Given the description of an element on the screen output the (x, y) to click on. 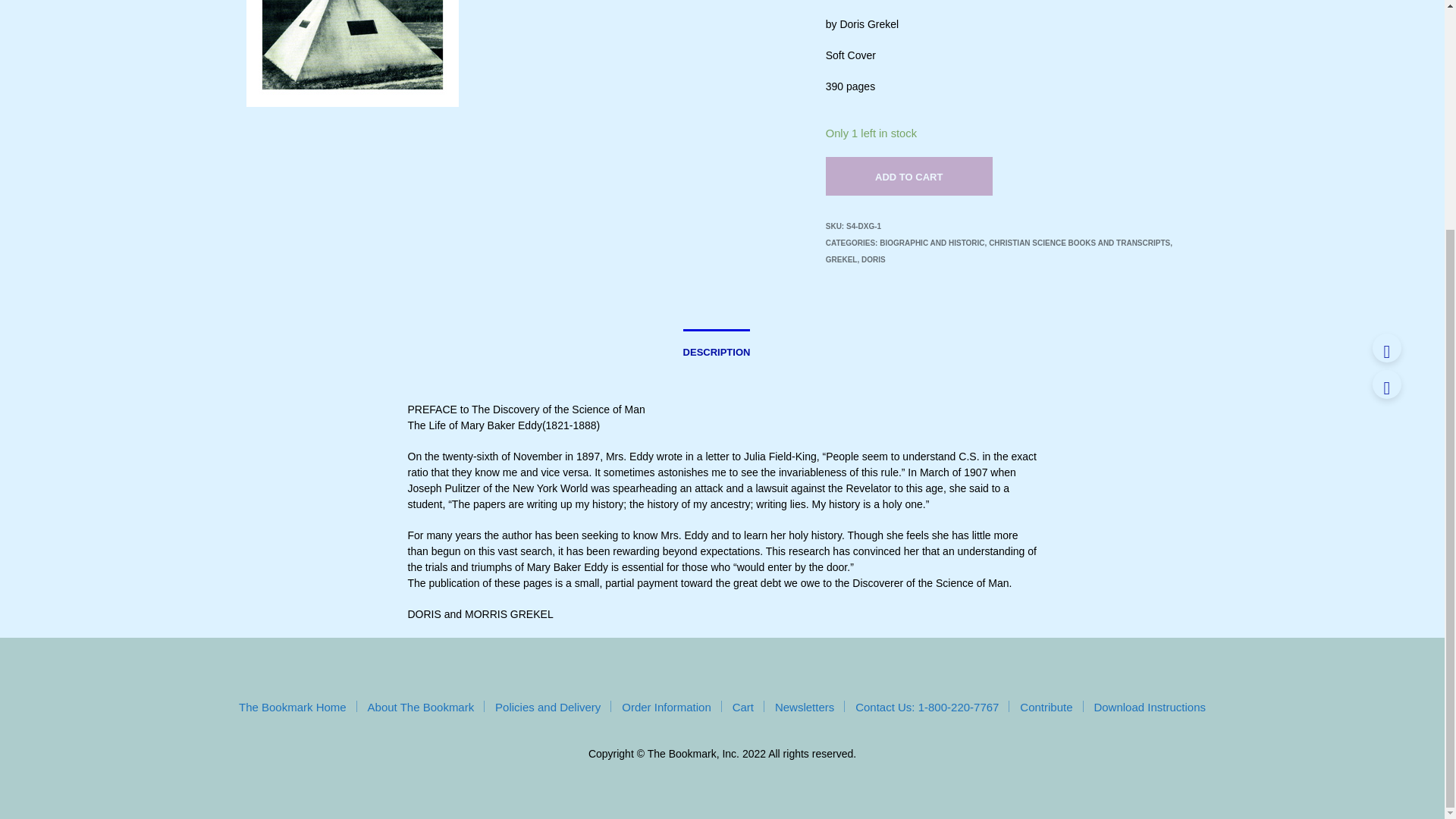
Download Instructions (1149, 707)
Contribute (1045, 707)
GREKEL, DORIS (855, 259)
About The Bookmark (421, 707)
BIOGRAPHIC AND HISTORIC (931, 243)
s4-dxg-1 (352, 53)
Policies and Delivery (547, 707)
CHRISTIAN SCIENCE BOOKS AND TRANSCRIPTS (1079, 243)
Newsletters (804, 707)
The Bookmark Home (292, 707)
Contact Us: 1-800-220-7767 (927, 707)
Order Information (666, 707)
DESCRIPTION (716, 347)
Cart (743, 707)
ADD TO CART (908, 176)
